Given the description of an element on the screen output the (x, y) to click on. 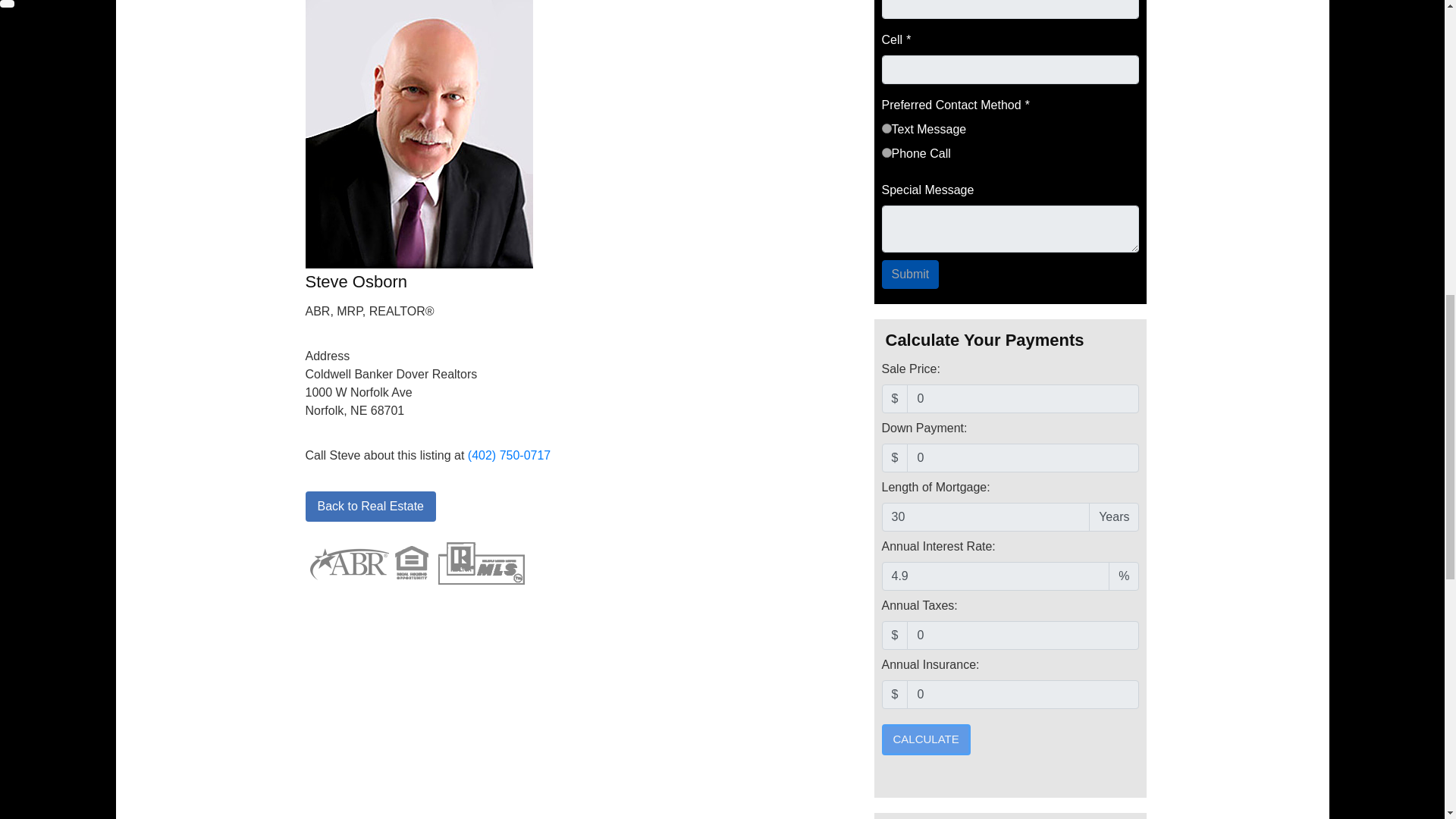
0 (1022, 635)
0 (1022, 457)
Back to Real Estate (369, 506)
4.9 (994, 575)
Submit (909, 274)
CALCULATE (924, 739)
0 (1022, 398)
Text Message (885, 128)
Phone Call (885, 153)
0 (1022, 694)
30 (984, 516)
